Given the description of an element on the screen output the (x, y) to click on. 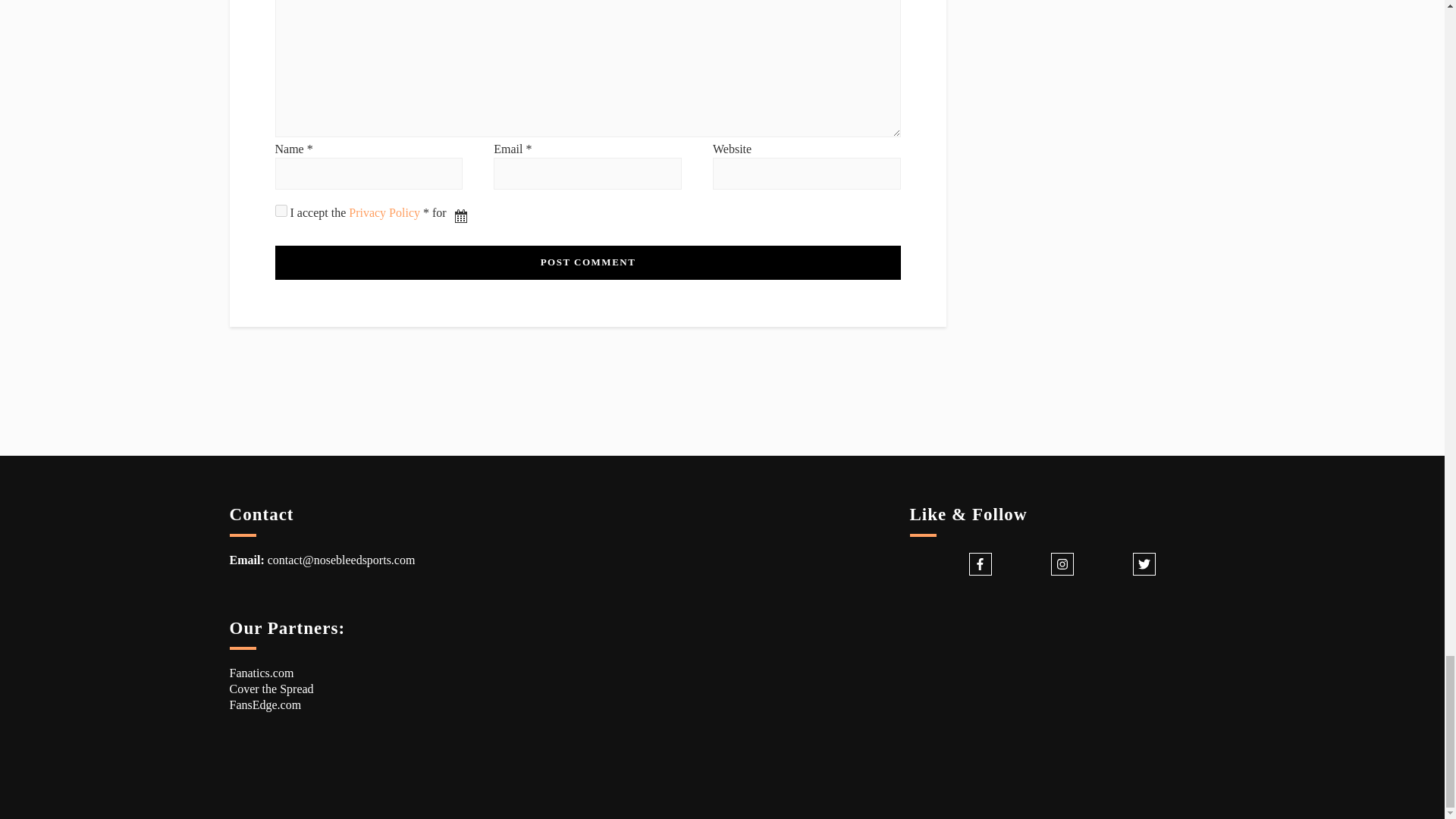
1 (280, 210)
Post Comment (587, 262)
